Given the description of an element on the screen output the (x, y) to click on. 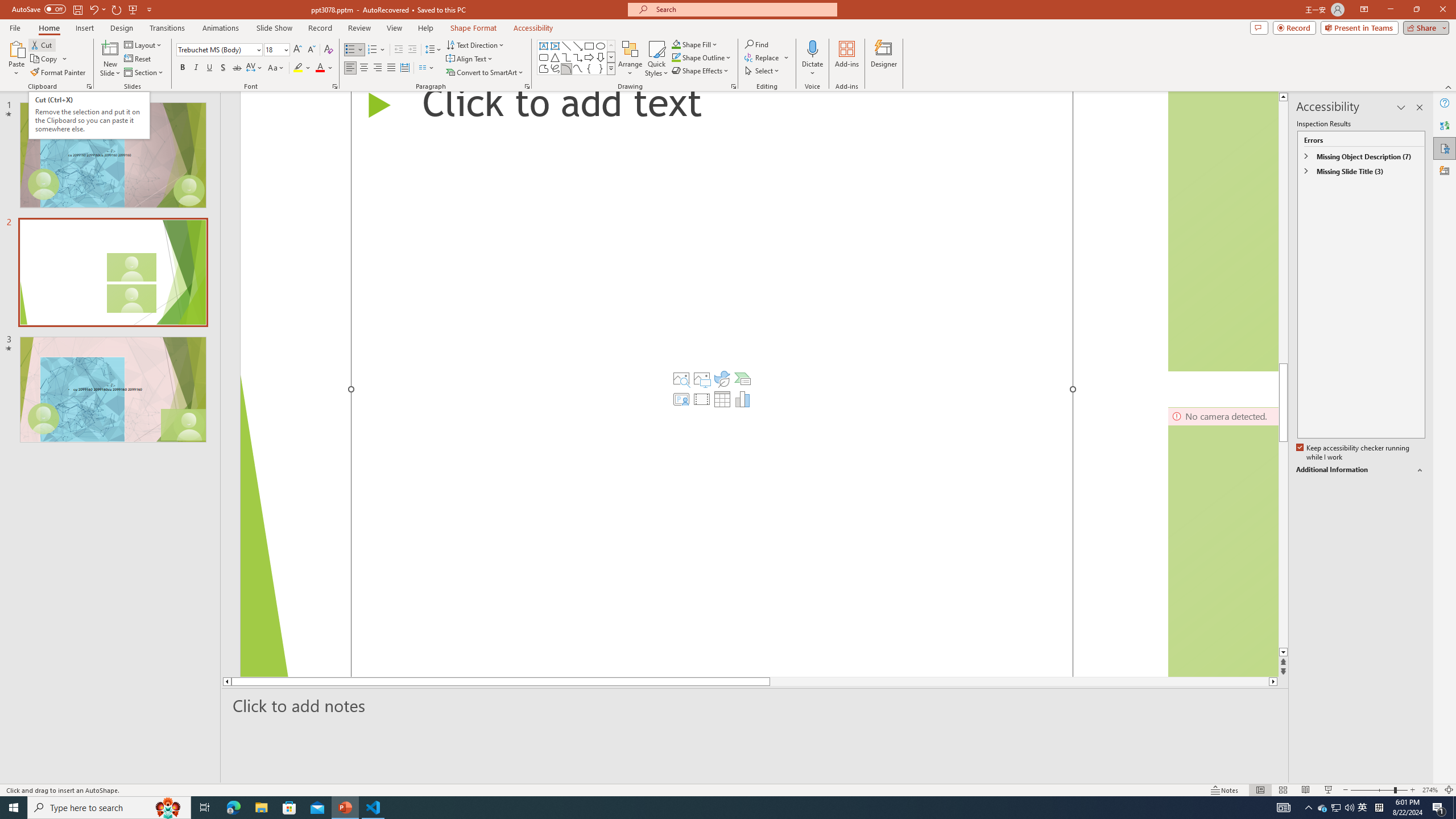
Insert Video (701, 398)
Stock Images (681, 378)
Insert Table (721, 398)
